Given the description of an element on the screen output the (x, y) to click on. 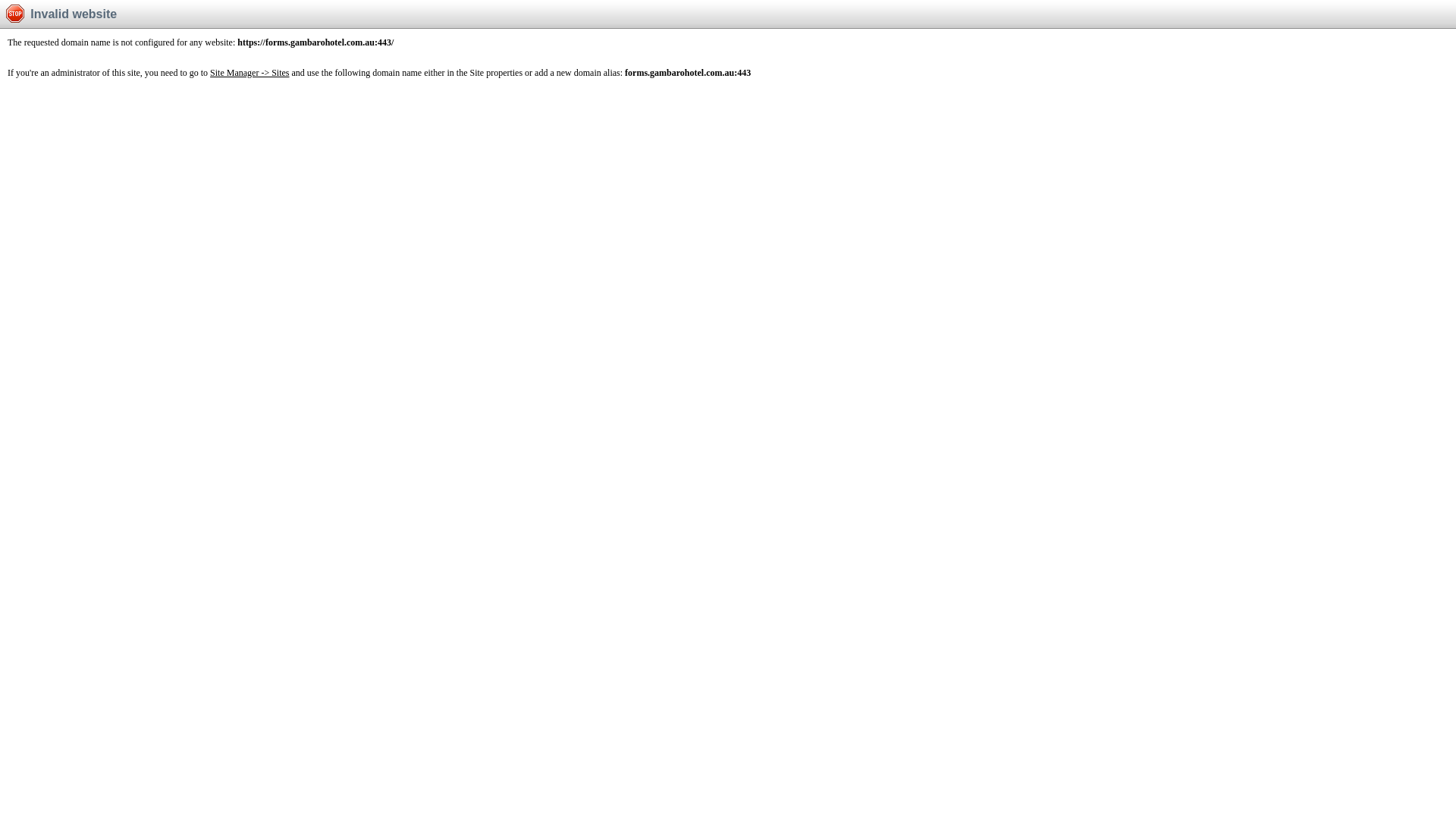
Site Manager -> Sites Element type: text (249, 72)
